Given the description of an element on the screen output the (x, y) to click on. 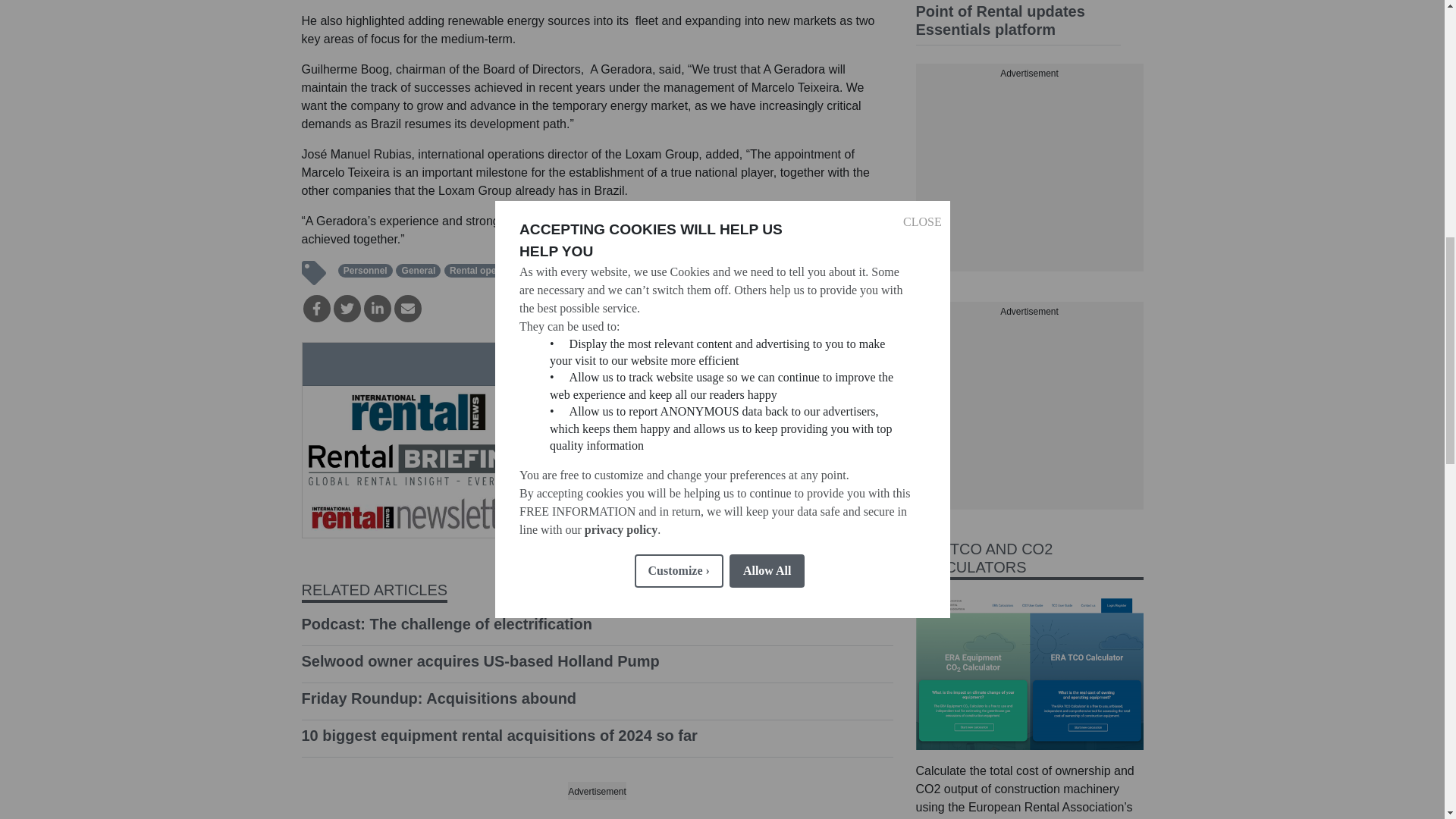
Share this page on Facebook (316, 308)
Allow All (767, 151)
3rd party ad content (1028, 176)
Share this page on Twitter (347, 308)
3rd party ad content (1028, 414)
privacy policy (619, 197)
Share this page via email (408, 308)
Share this page on Linkedin (377, 308)
